Given the description of an element on the screen output the (x, y) to click on. 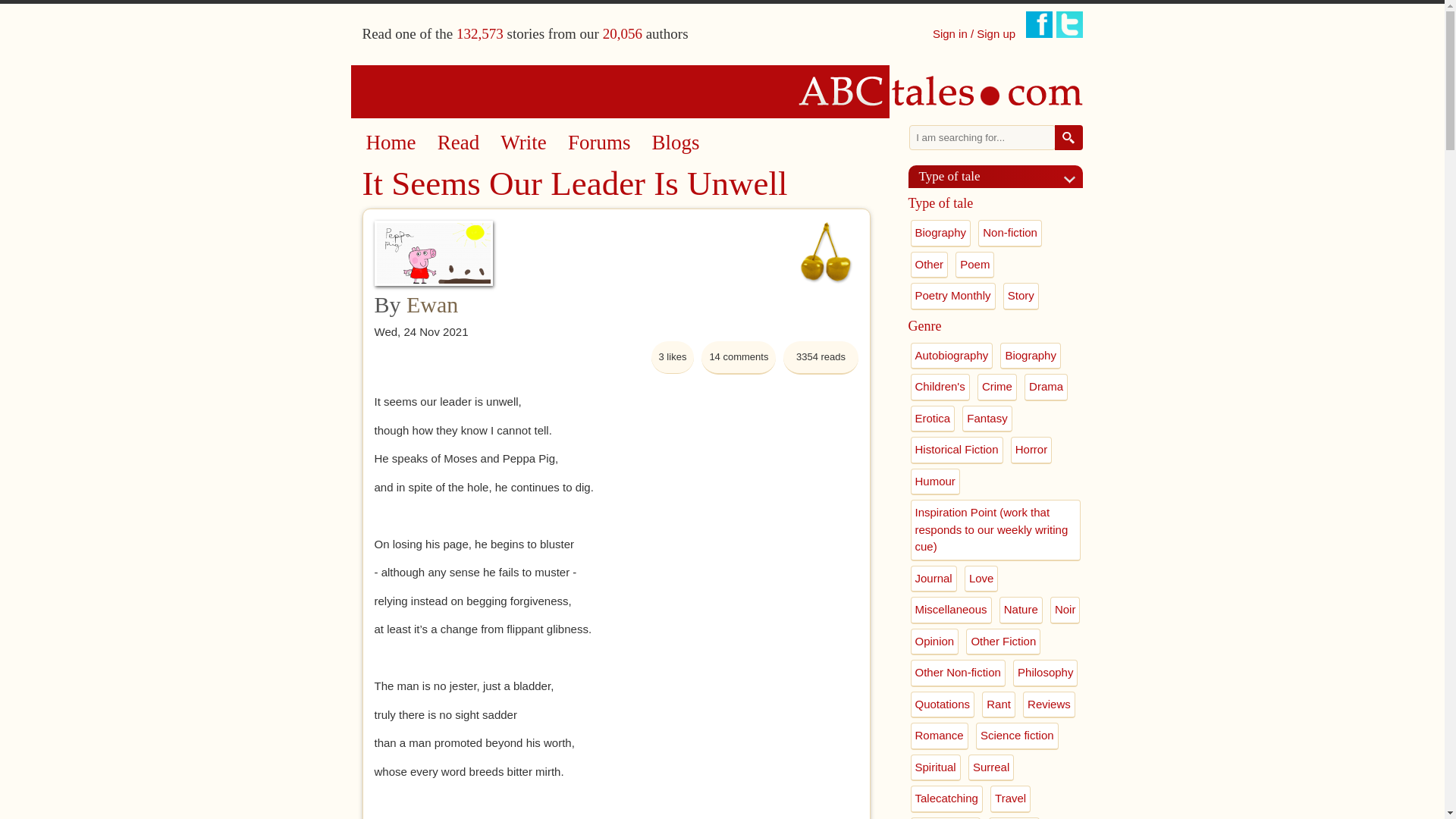
Write (523, 142)
Ewan (432, 303)
Read (458, 142)
Blogs (676, 142)
Forums (598, 142)
Home (389, 142)
Home (722, 91)
Gold cherry (825, 252)
